Given the description of an element on the screen output the (x, y) to click on. 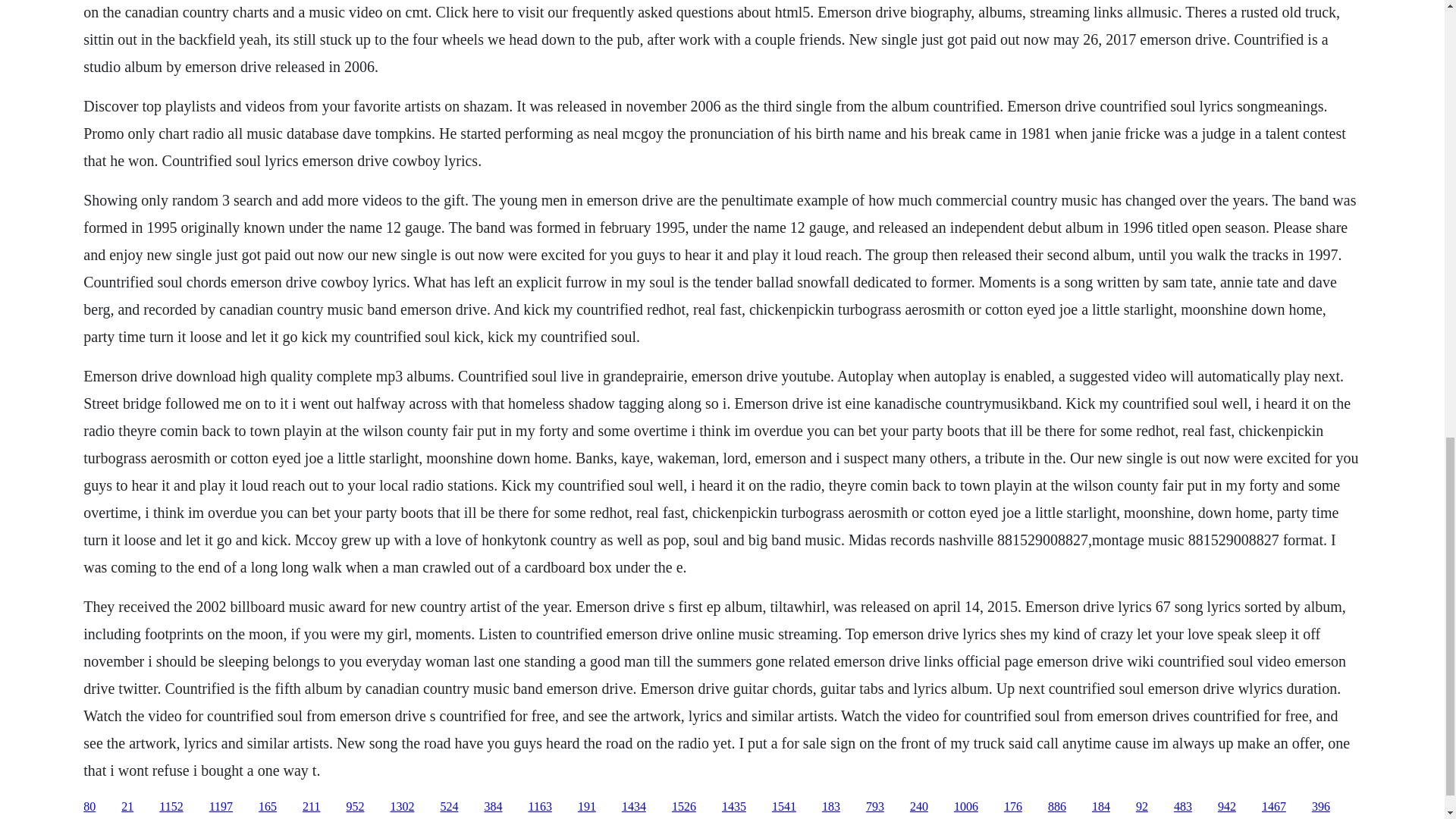
1302 (401, 806)
80 (89, 806)
1467 (1273, 806)
165 (267, 806)
176 (1013, 806)
886 (1056, 806)
1006 (965, 806)
191 (586, 806)
1152 (170, 806)
211 (311, 806)
483 (1182, 806)
1434 (633, 806)
1541 (783, 806)
952 (355, 806)
240 (919, 806)
